Given the description of an element on the screen output the (x, y) to click on. 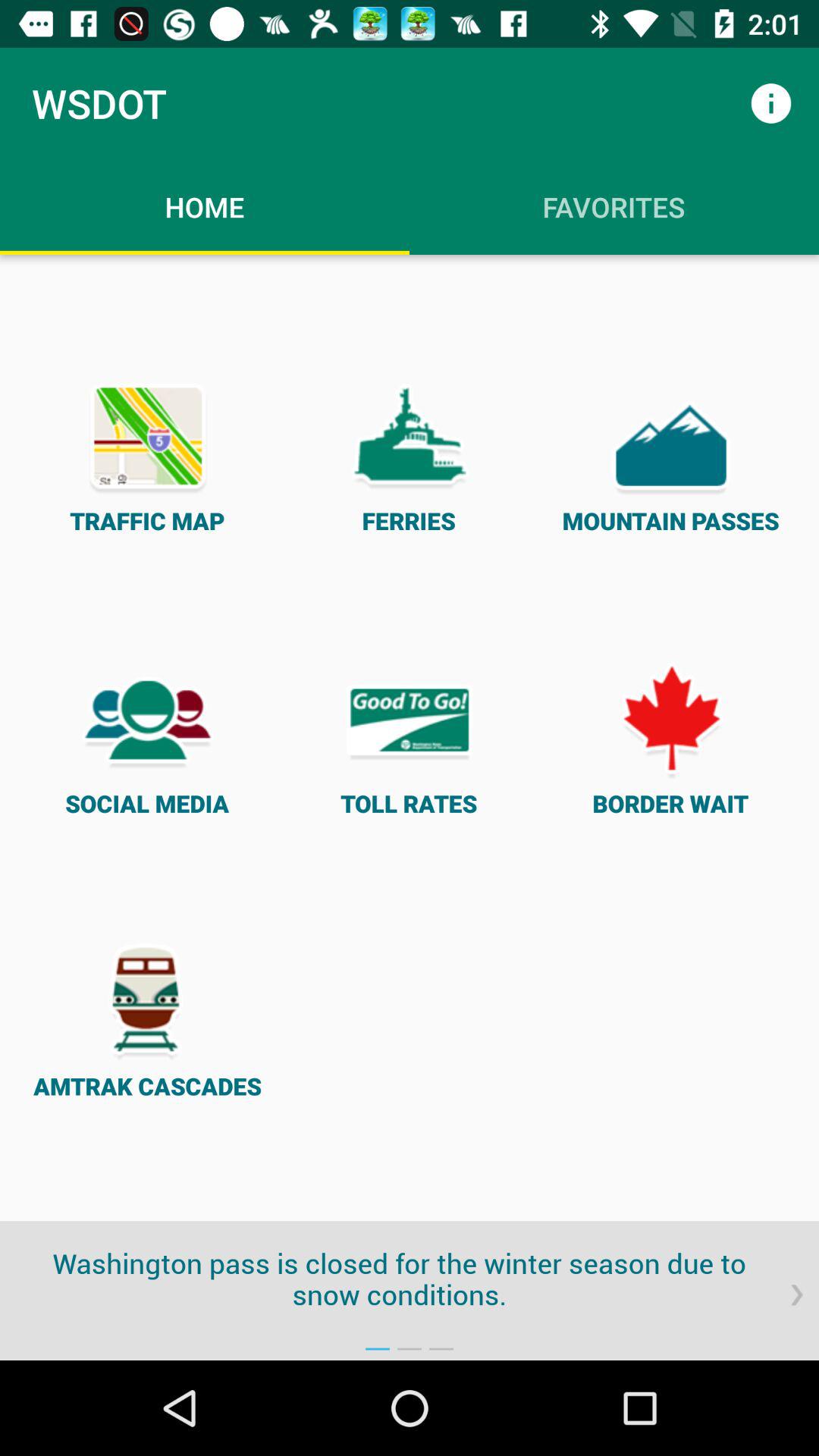
open the item to the right of wsdot icon (771, 103)
